Given the description of an element on the screen output the (x, y) to click on. 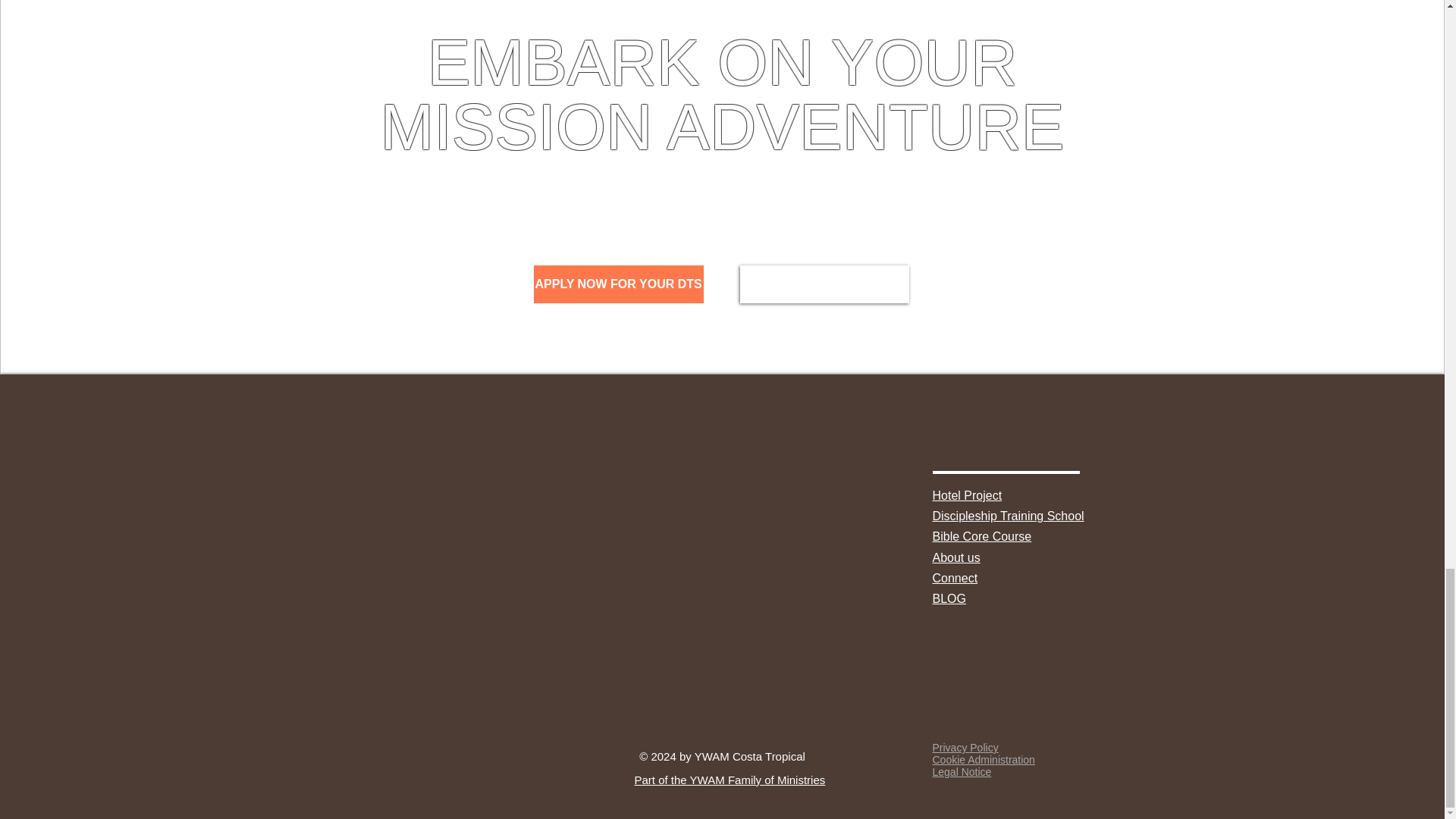
APPLY NOW FOR YOUR DTS (618, 284)
BLOG (949, 598)
Legal Notice (962, 771)
Part of the YWAM Family of Ministries (729, 779)
Cookie Administration (984, 759)
Bible Core Course (982, 535)
Privacy Policy (965, 747)
Hotel Project (968, 495)
Connect (955, 577)
About us (956, 557)
